Given the description of an element on the screen output the (x, y) to click on. 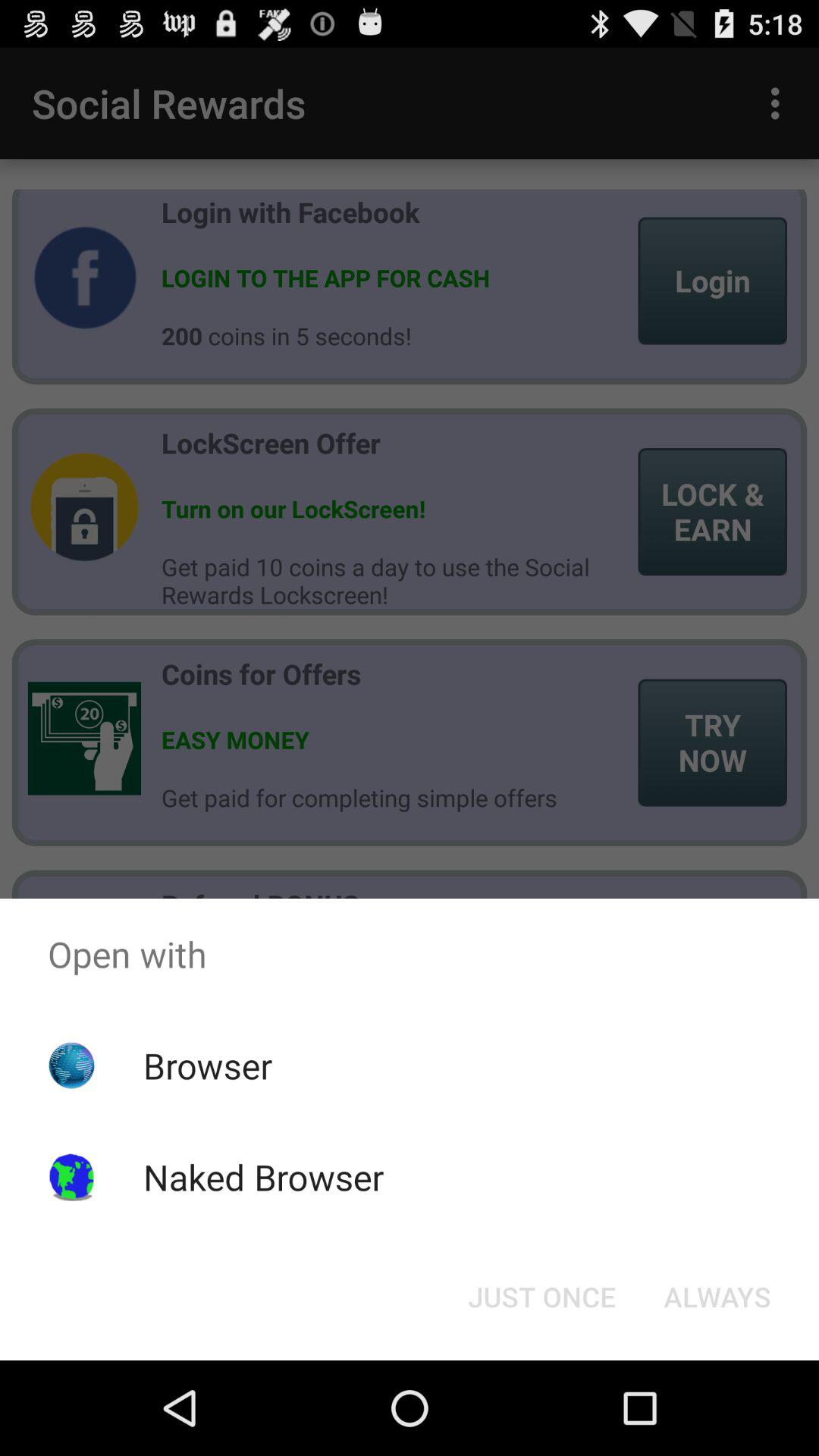
open the icon below the browser item (263, 1176)
